Given the description of an element on the screen output the (x, y) to click on. 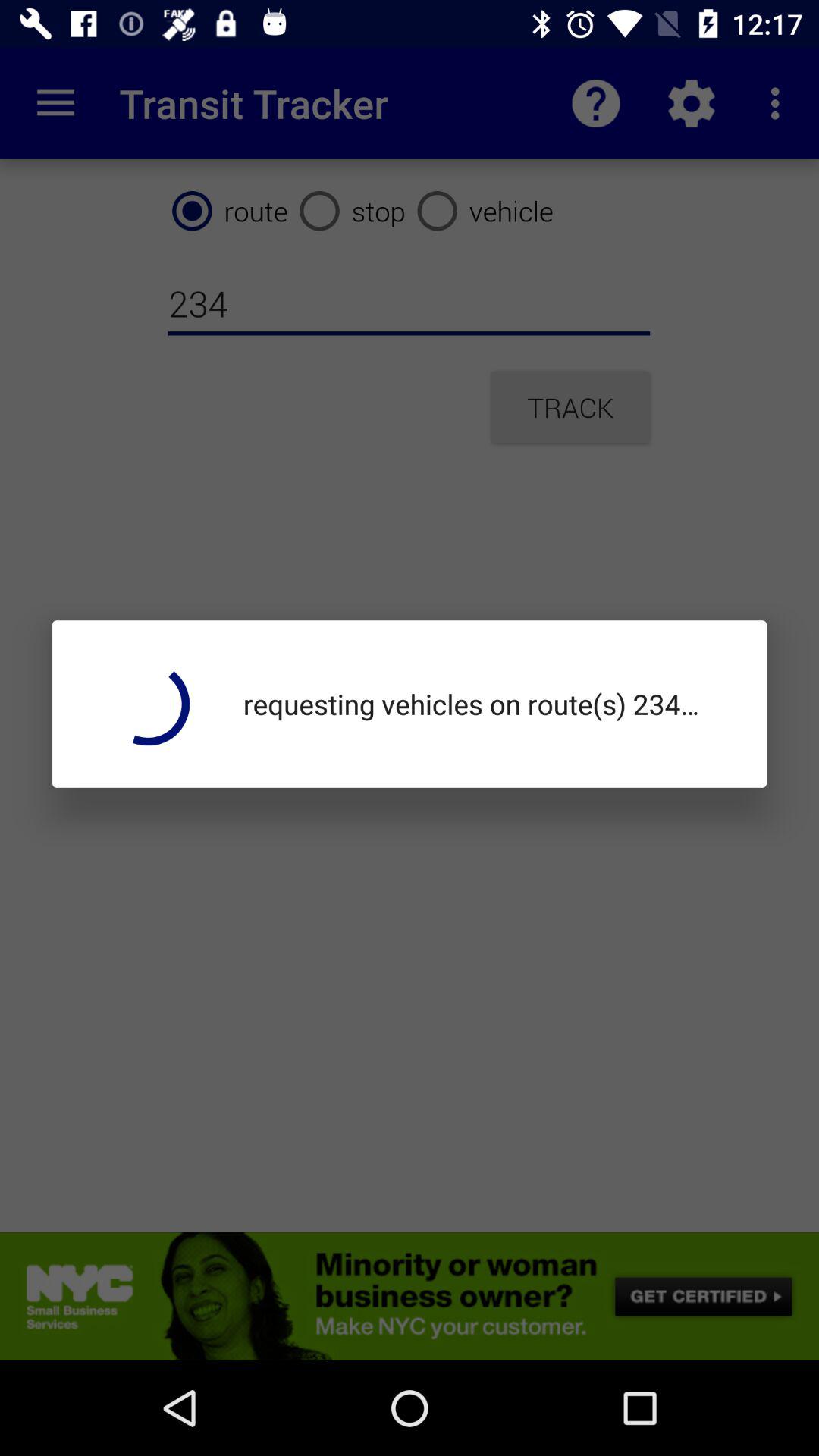
advertisement link (409, 1295)
